Given the description of an element on the screen output the (x, y) to click on. 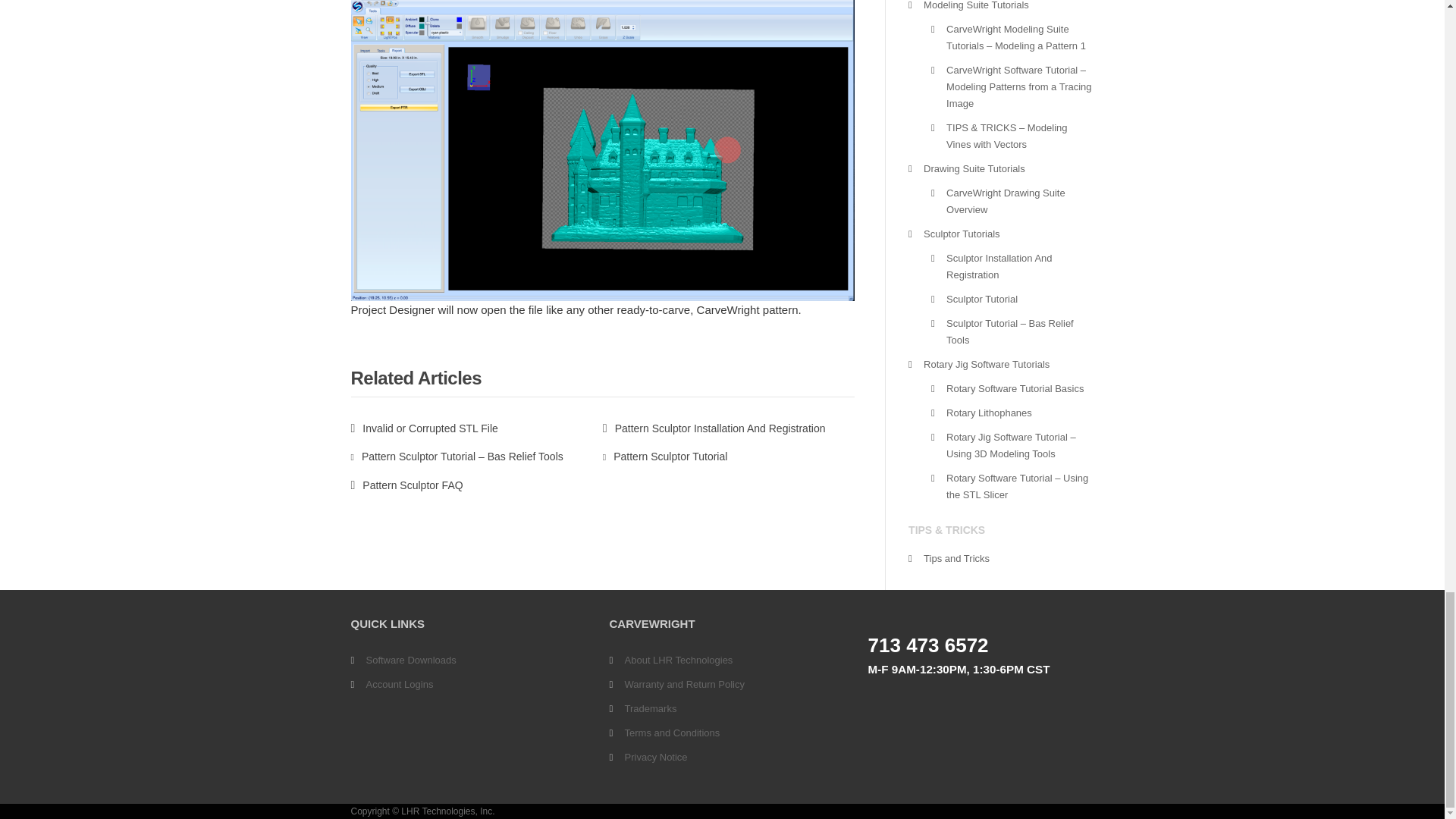
Pattern Sculptor Installation And Registration (713, 428)
Pattern Sculptor FAQ (406, 485)
Pattern Sculptor Tutorial (665, 456)
Invalid or Corrupted STL File (423, 428)
